Given the description of an element on the screen output the (x, y) to click on. 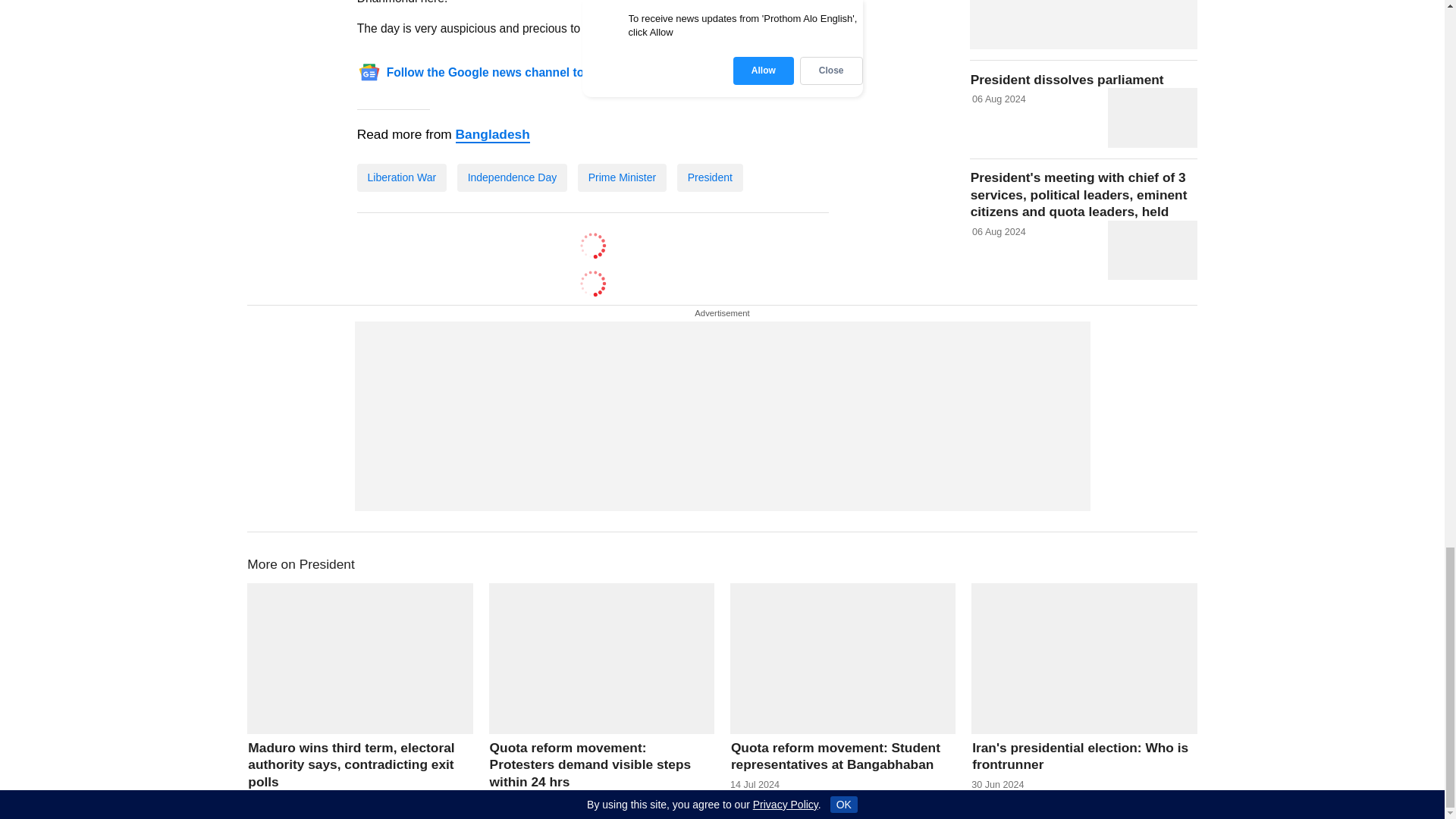
Bangladesh (492, 134)
Independence Day (512, 176)
Liberation War (401, 176)
